Given the description of an element on the screen output the (x, y) to click on. 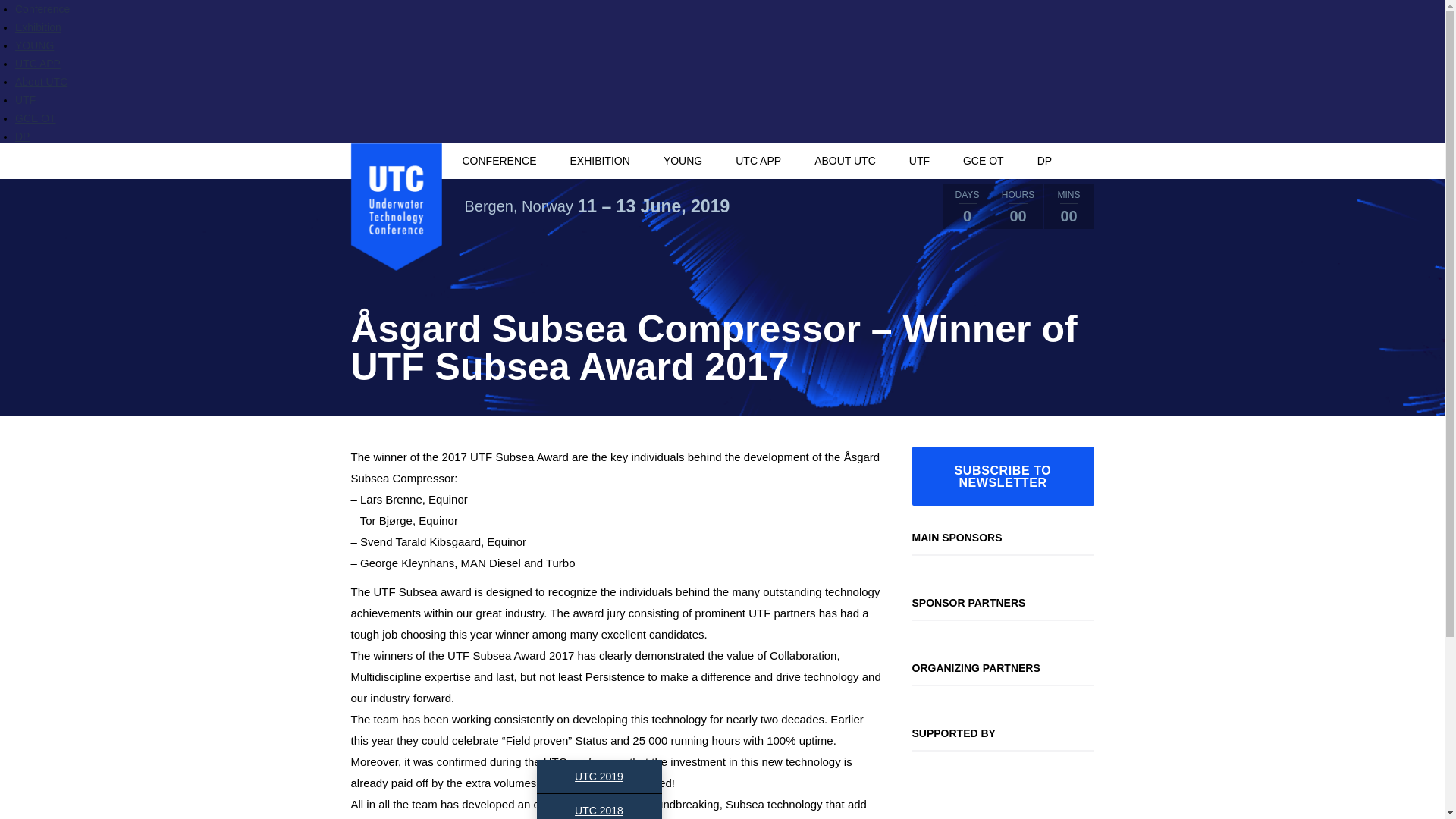
EXHIBITION (600, 161)
Conference (41, 9)
About UTC (40, 81)
UTC APP (37, 63)
DP (21, 136)
GCE OT (35, 118)
UTC 2019 (599, 776)
UTF (24, 100)
YOUNG (33, 45)
CONFERENCE (498, 161)
ABOUT UTC (845, 161)
UTC 2018 (599, 806)
UTC APP (757, 161)
YOUNG (682, 161)
SUBSCRIBE TO NEWSLETTER (1002, 476)
